Given the description of an element on the screen output the (x, y) to click on. 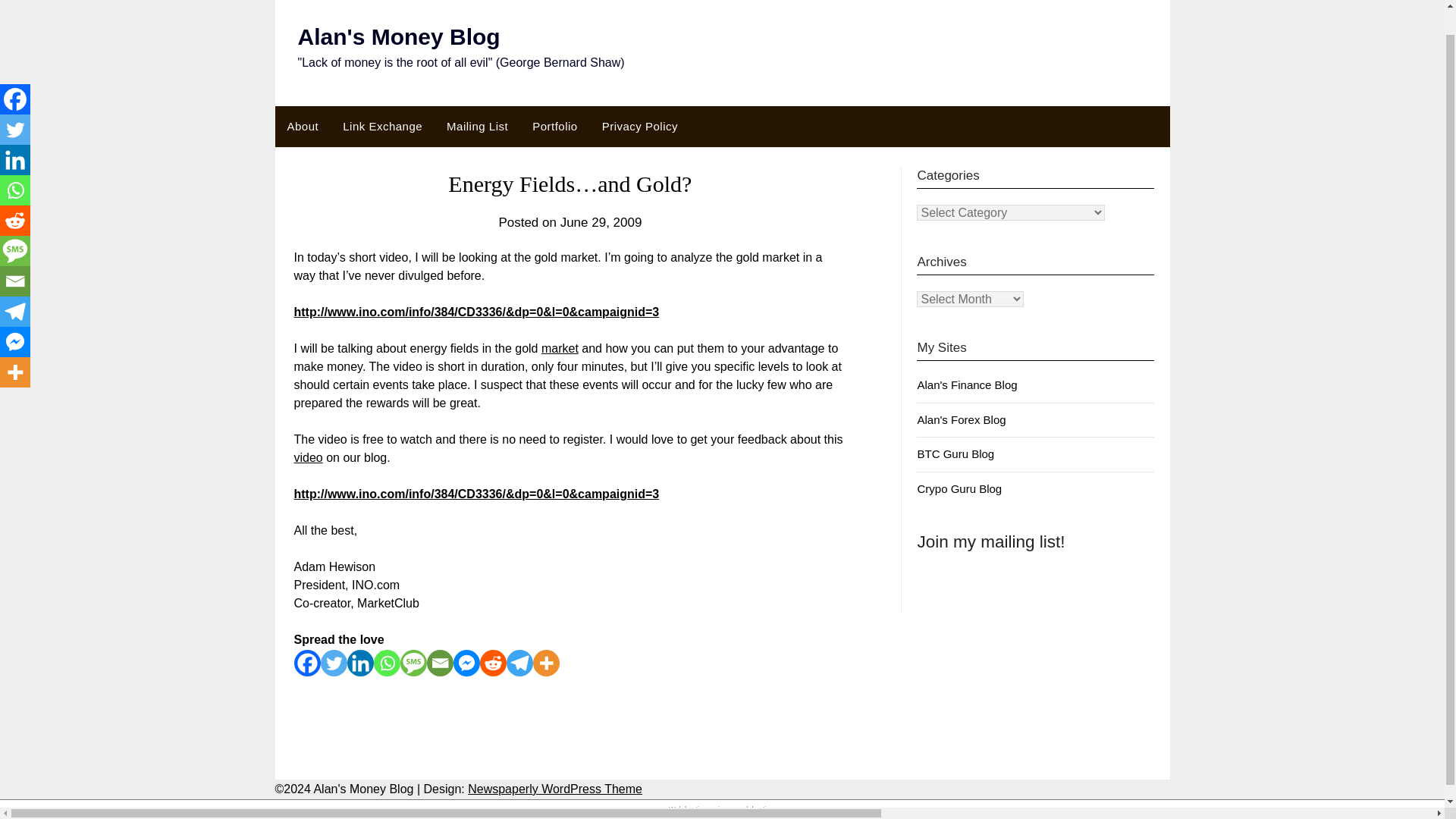
Alan's Forex Blog (961, 419)
Email (439, 663)
Newspaperly WordPress Theme (554, 788)
About (302, 126)
Facebook (15, 73)
Privacy Policy (639, 126)
Reddit (492, 663)
Link Exchange (381, 126)
Alan's Finance Blog (966, 384)
BTC Guru Blog (955, 453)
